Given the description of an element on the screen output the (x, y) to click on. 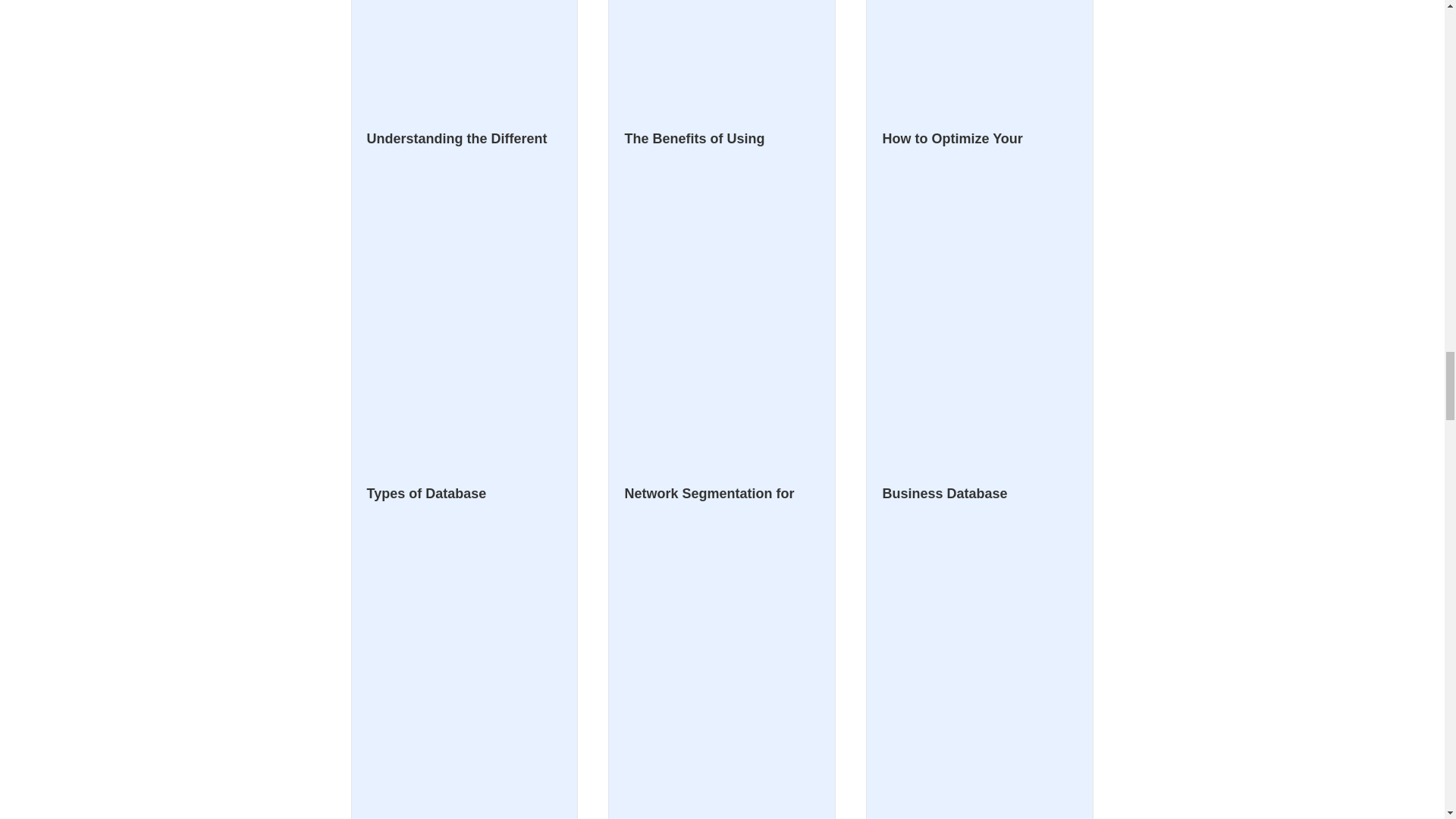
How to Optimize Your Business Database Performance (952, 475)
The Benefits of Using Network Segmentation for Cybersecurity (708, 475)
